Given the description of an element on the screen output the (x, y) to click on. 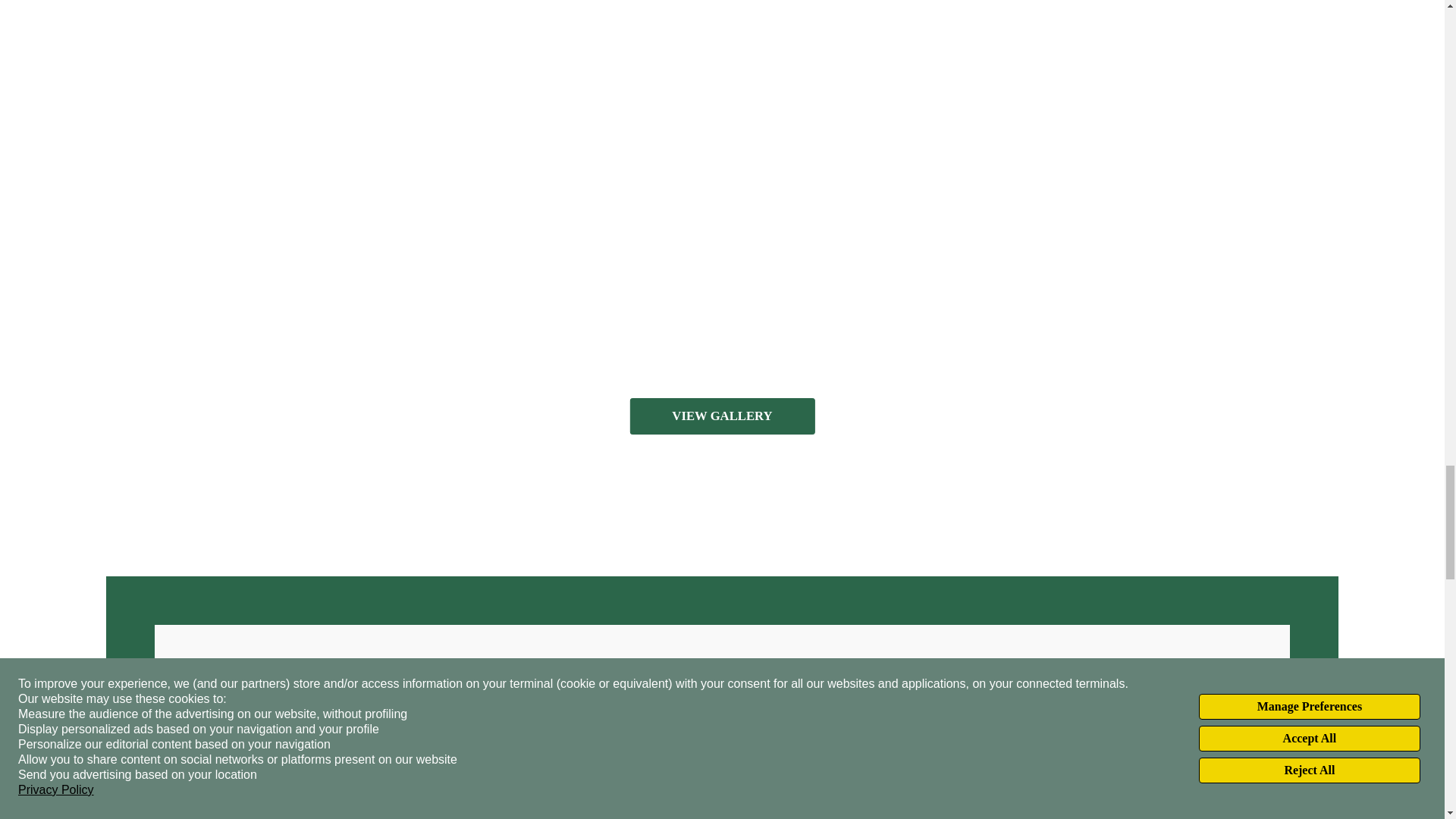
VIEW GALLERY (720, 416)
Previous (150, 88)
Next (1293, 88)
